Given the description of an element on the screen output the (x, y) to click on. 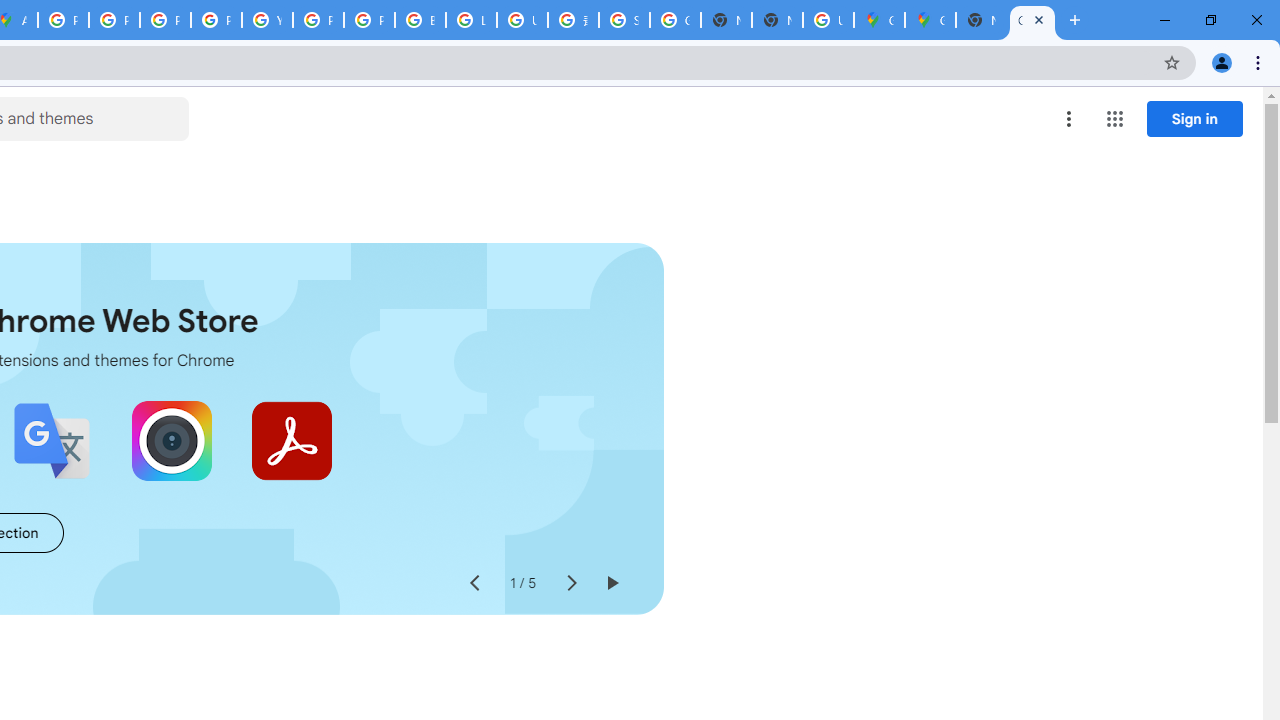
Next slide (570, 583)
Adobe Acrobat: PDF edit, convert, sign tools (291, 440)
More options menu (1069, 118)
Google Maps (930, 20)
Previous slide (474, 583)
New Tab (776, 20)
Privacy Help Center - Policies Help (164, 20)
